Given the description of an element on the screen output the (x, y) to click on. 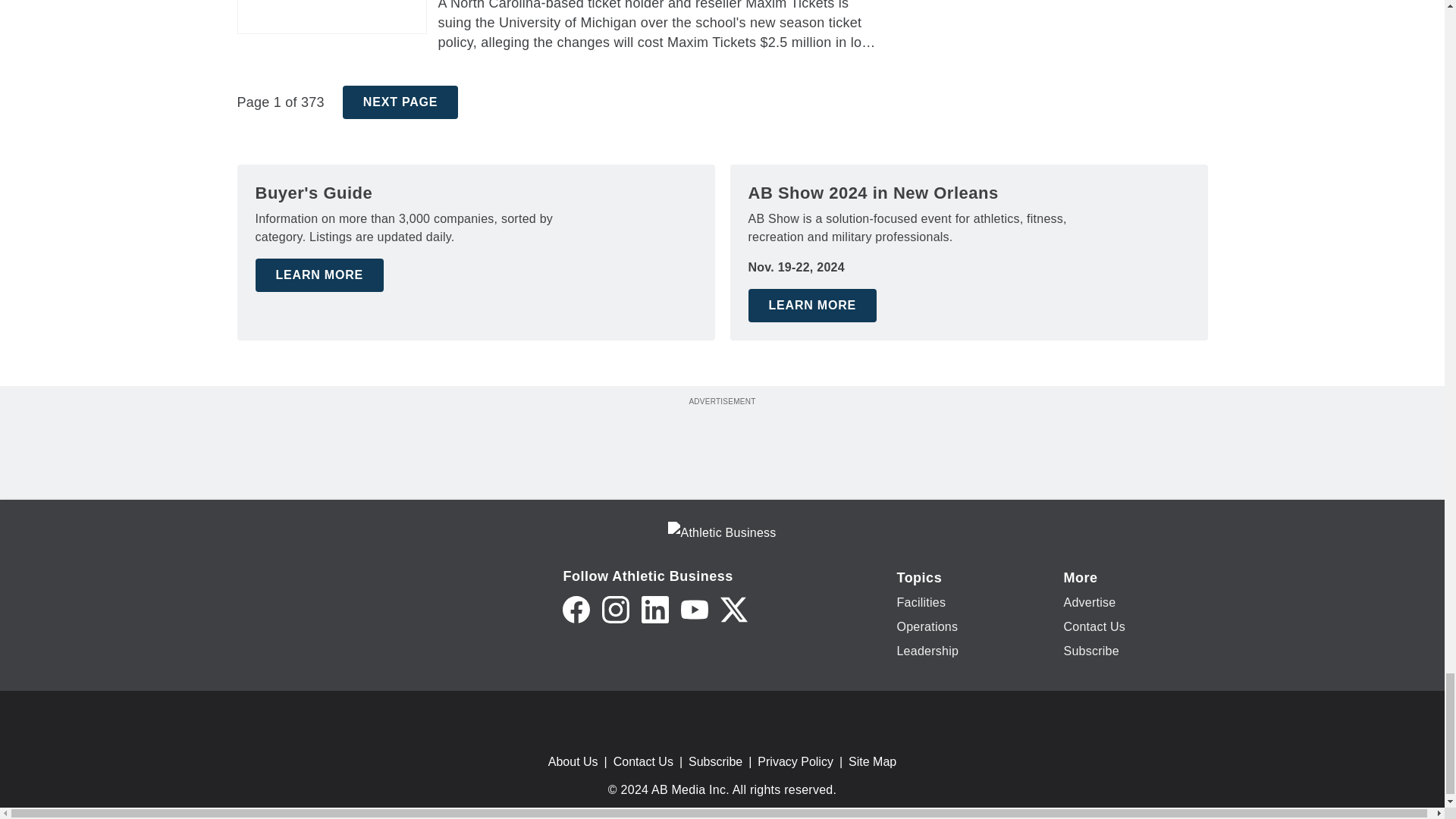
Twitter X icon (734, 609)
LinkedIn icon (655, 609)
YouTube icon (694, 609)
Facebook icon (575, 609)
Instagram icon (615, 609)
